Given the description of an element on the screen output the (x, y) to click on. 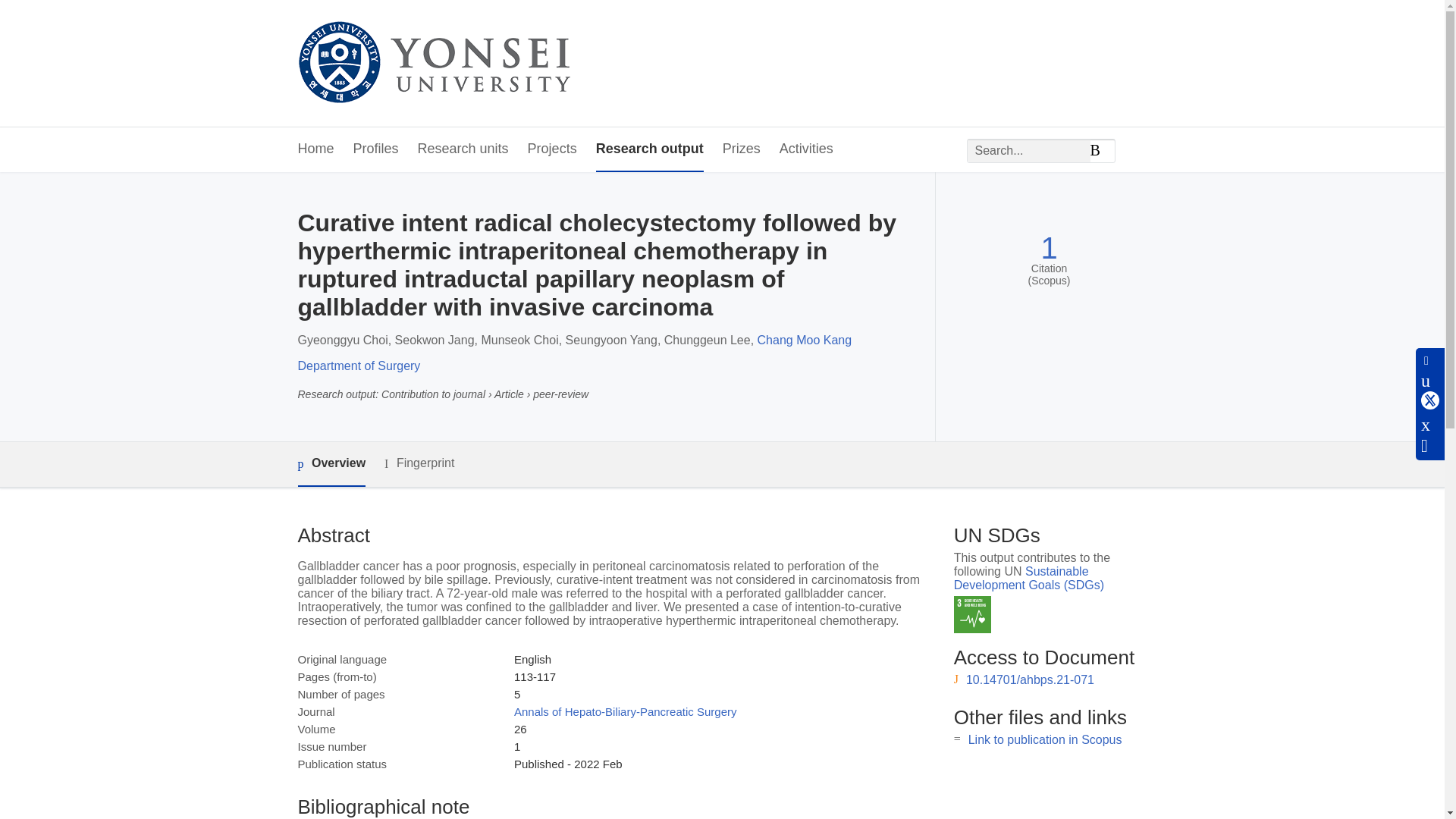
Yonsei University Home (433, 63)
Research output (649, 149)
Overview (331, 464)
Chang Moo Kang (804, 339)
Profiles (375, 149)
Research units (462, 149)
Annals of Hepato-Biliary-Pancreatic Surgery (624, 711)
Fingerprint (419, 463)
Projects (551, 149)
Link to publication in Scopus (1045, 739)
